Given the description of an element on the screen output the (x, y) to click on. 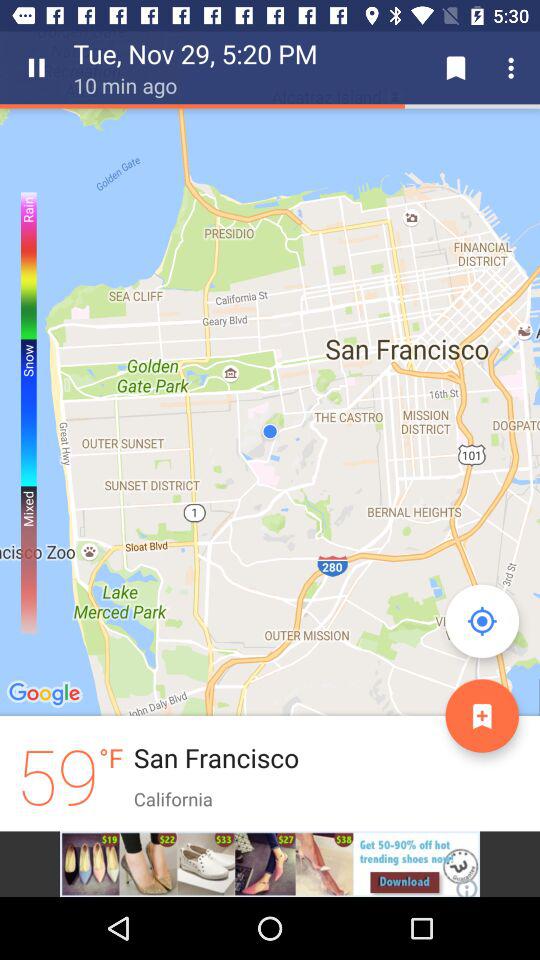
add information (482, 715)
